Given the description of an element on the screen output the (x, y) to click on. 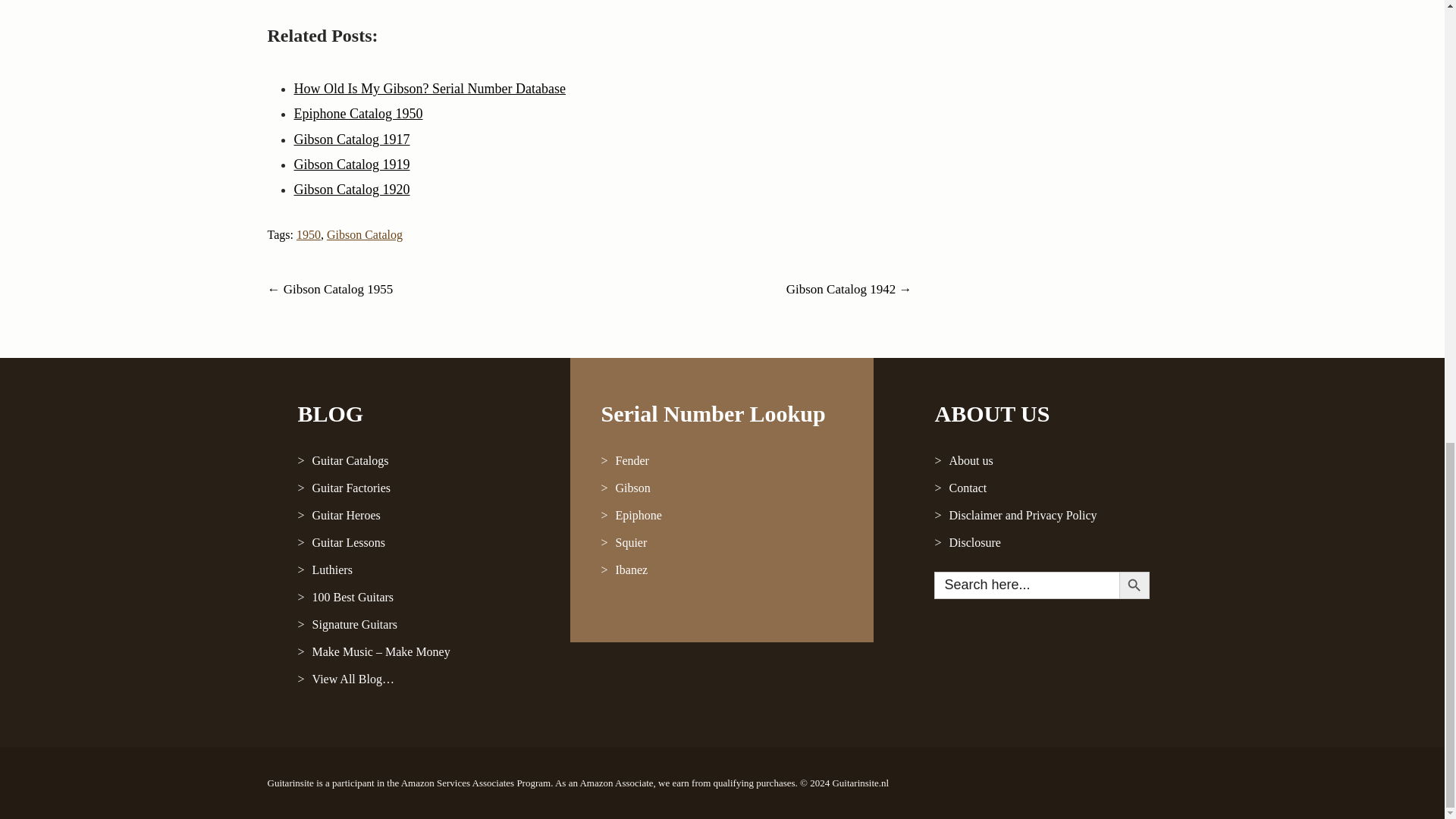
Epiphone Catalog 1950 (358, 113)
About us (1040, 461)
Signature Guitars (418, 624)
1950 (308, 234)
Gibson Catalog 1919 (352, 164)
Gibson Catalog 1917 (352, 139)
Fender (721, 461)
Gibson Catalog 1920 (352, 189)
Guitar Catalogs (418, 461)
Gibson (721, 488)
Guitar Lessons (418, 542)
Squier (721, 542)
100 Best Guitars (418, 596)
How Old Is My Gibson? Serial Number Database (430, 88)
Epiphone (721, 515)
